Given the description of an element on the screen output the (x, y) to click on. 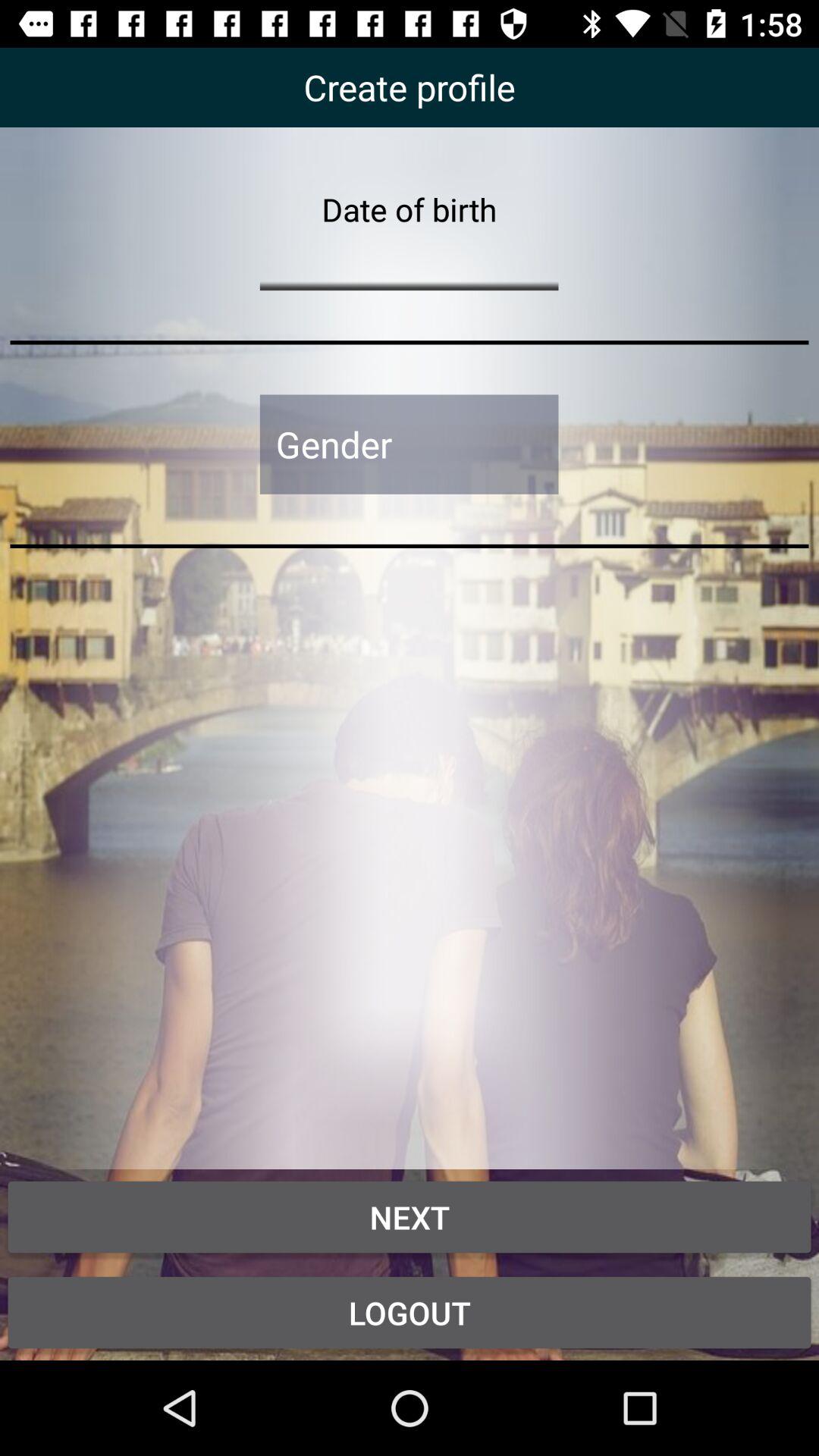
typeing (408, 260)
